Given the description of an element on the screen output the (x, y) to click on. 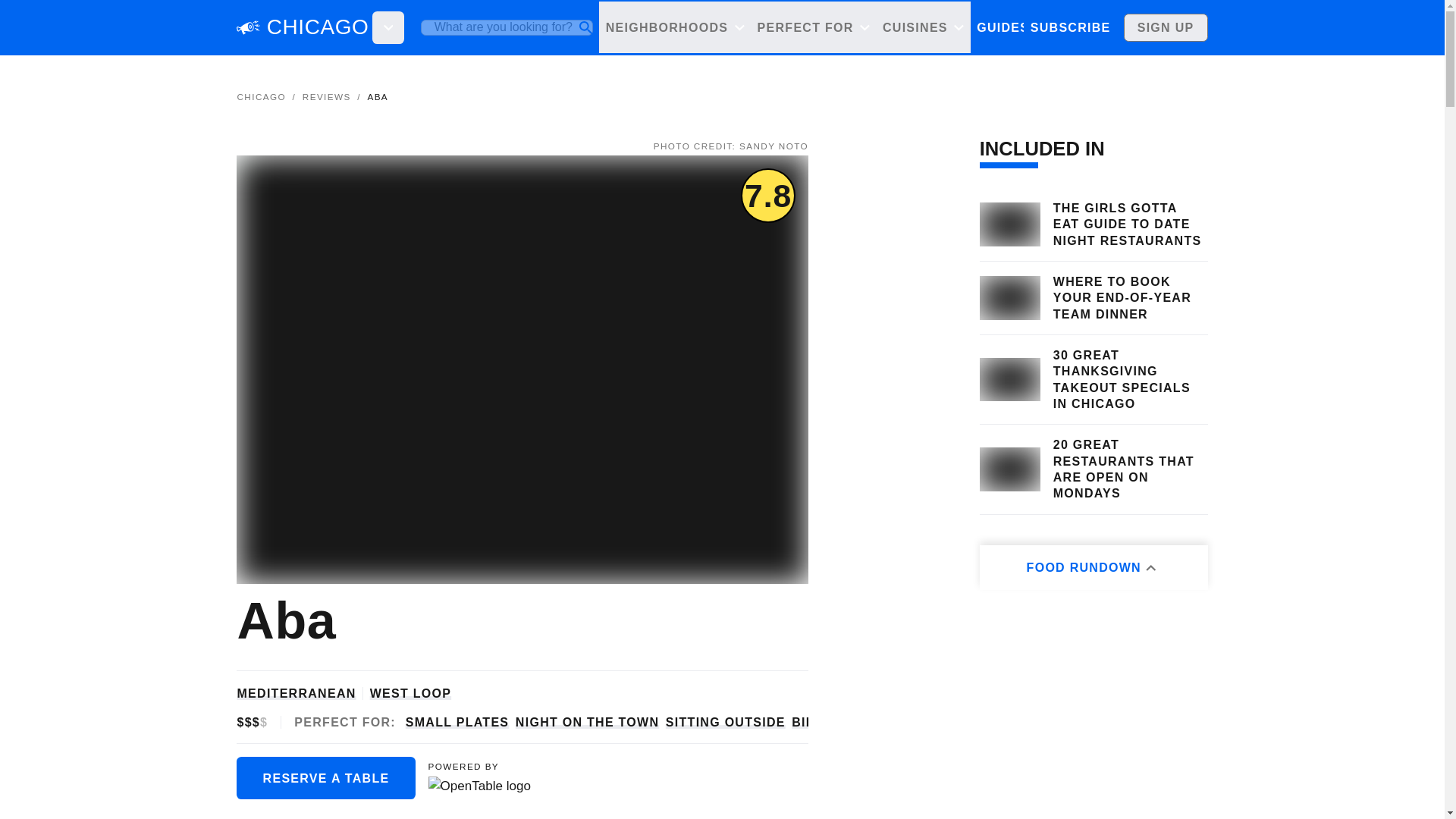
CHICAGO (260, 96)
GUIDES (1003, 27)
PERFECT FOR (813, 27)
CUISINES (922, 27)
WEST LOOP (410, 693)
NIGHT ON THE TOWN (587, 722)
RESERVE A TABLE (324, 777)
REVIEWS (326, 96)
SIGN UP (1166, 27)
CHICAGO (317, 26)
WHERE TO BOOK YOUR END-OF-YEAR TEAM DINNER (1130, 297)
What are you looking for? (506, 27)
NEIGHBORHOODS (674, 27)
MEDITERRANEAN (295, 693)
SMALL PLATES (457, 722)
